Given the description of an element on the screen output the (x, y) to click on. 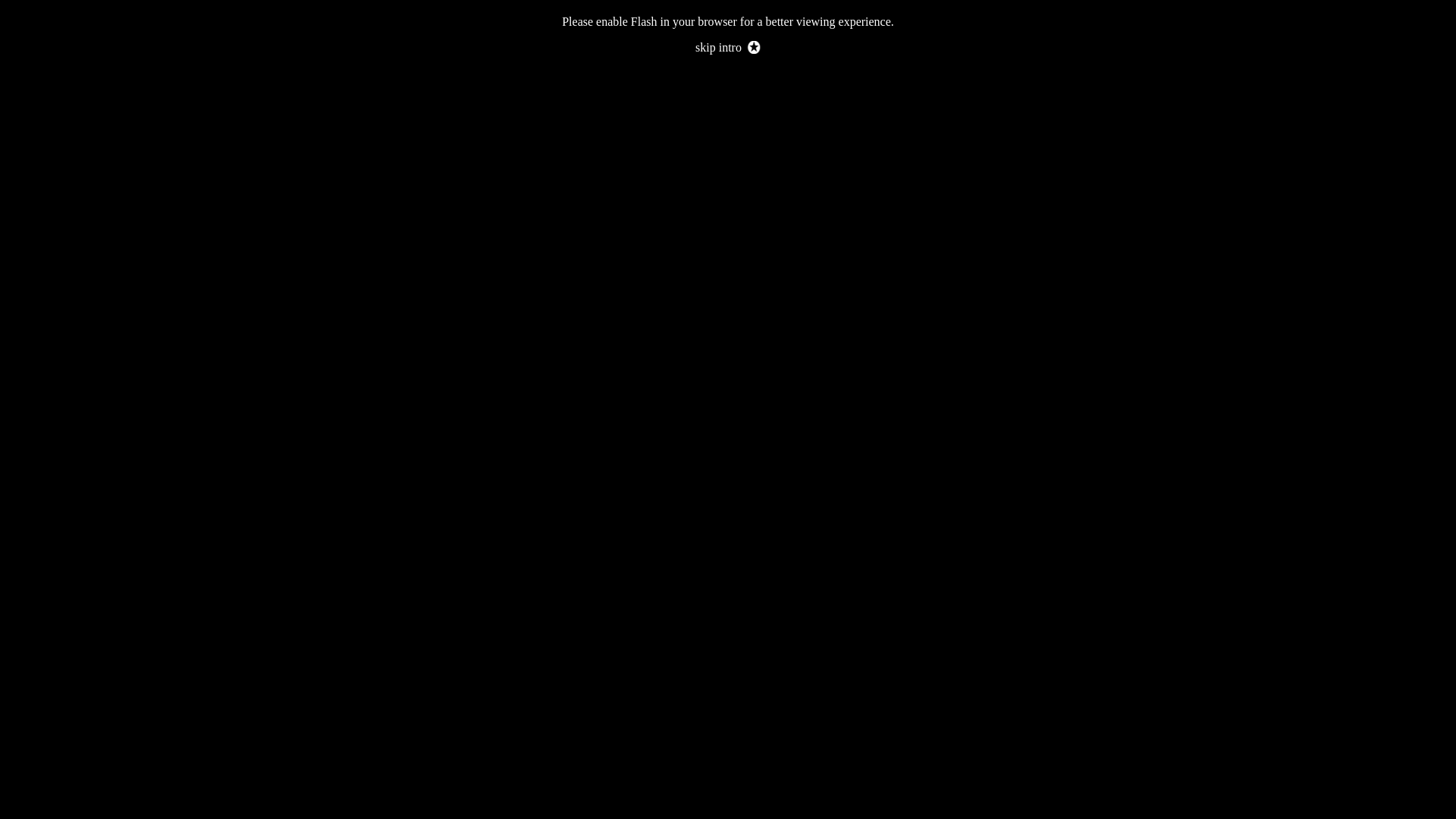
skip intro Element type: text (727, 46)
